Given the description of an element on the screen output the (x, y) to click on. 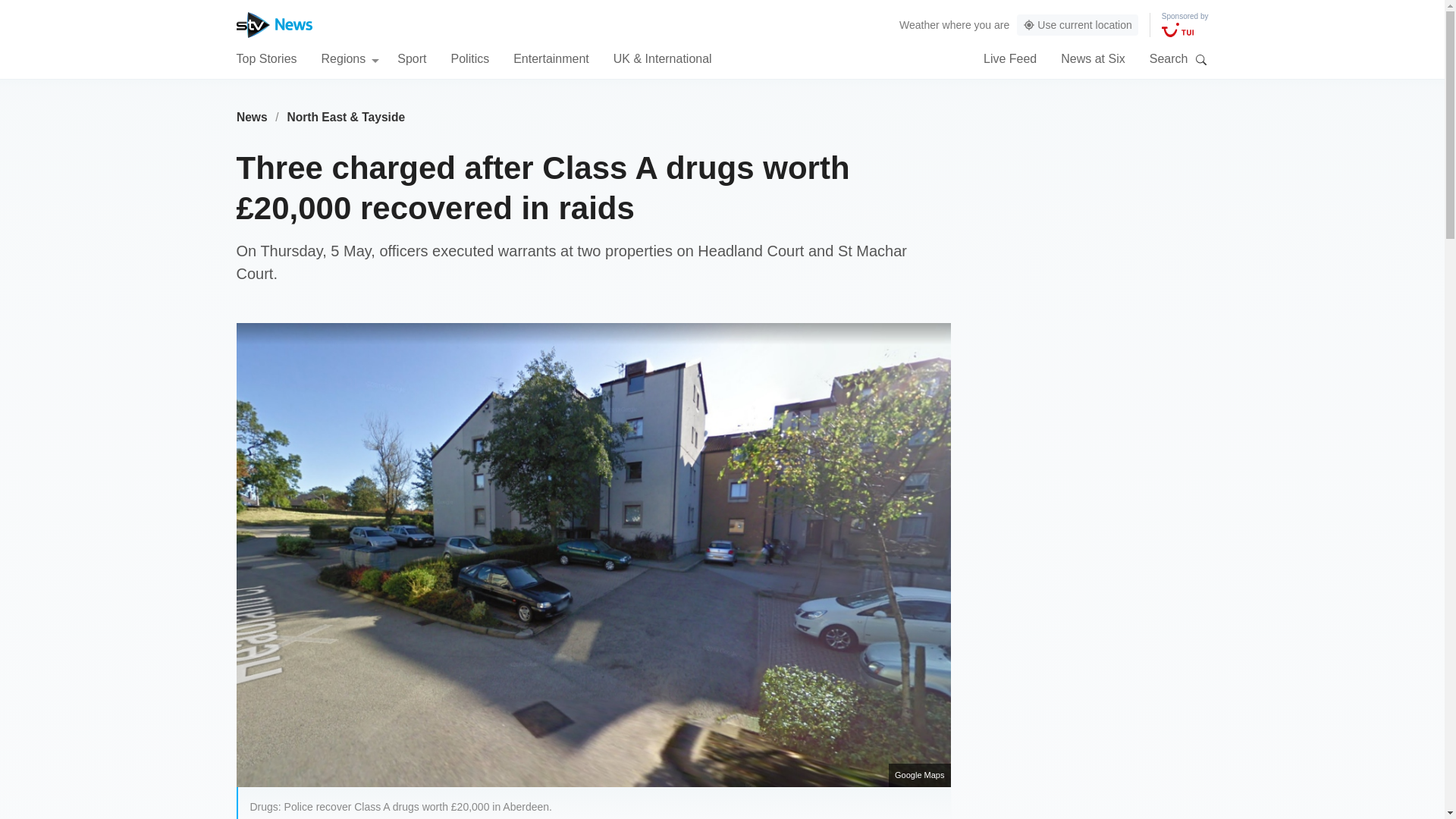
News (252, 116)
Politics (469, 57)
Regions (350, 57)
Top Stories (266, 57)
Weather (919, 24)
Use current location (1077, 25)
News at Six (1092, 57)
Entertainment (551, 57)
Search (1201, 59)
Live Feed (1010, 57)
